Given the description of an element on the screen output the (x, y) to click on. 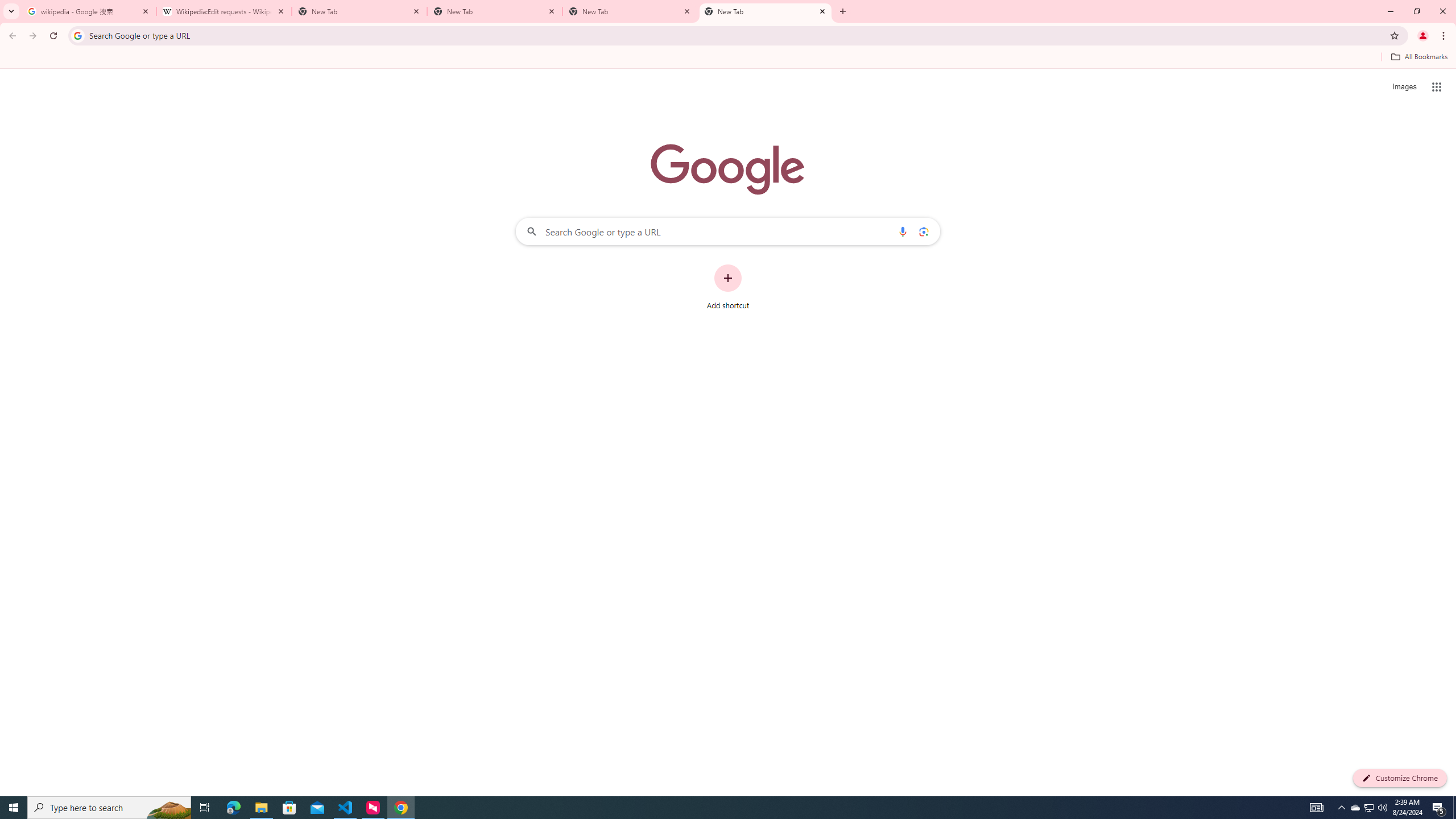
New Tab (494, 11)
New Tab (765, 11)
